Given the description of an element on the screen output the (x, y) to click on. 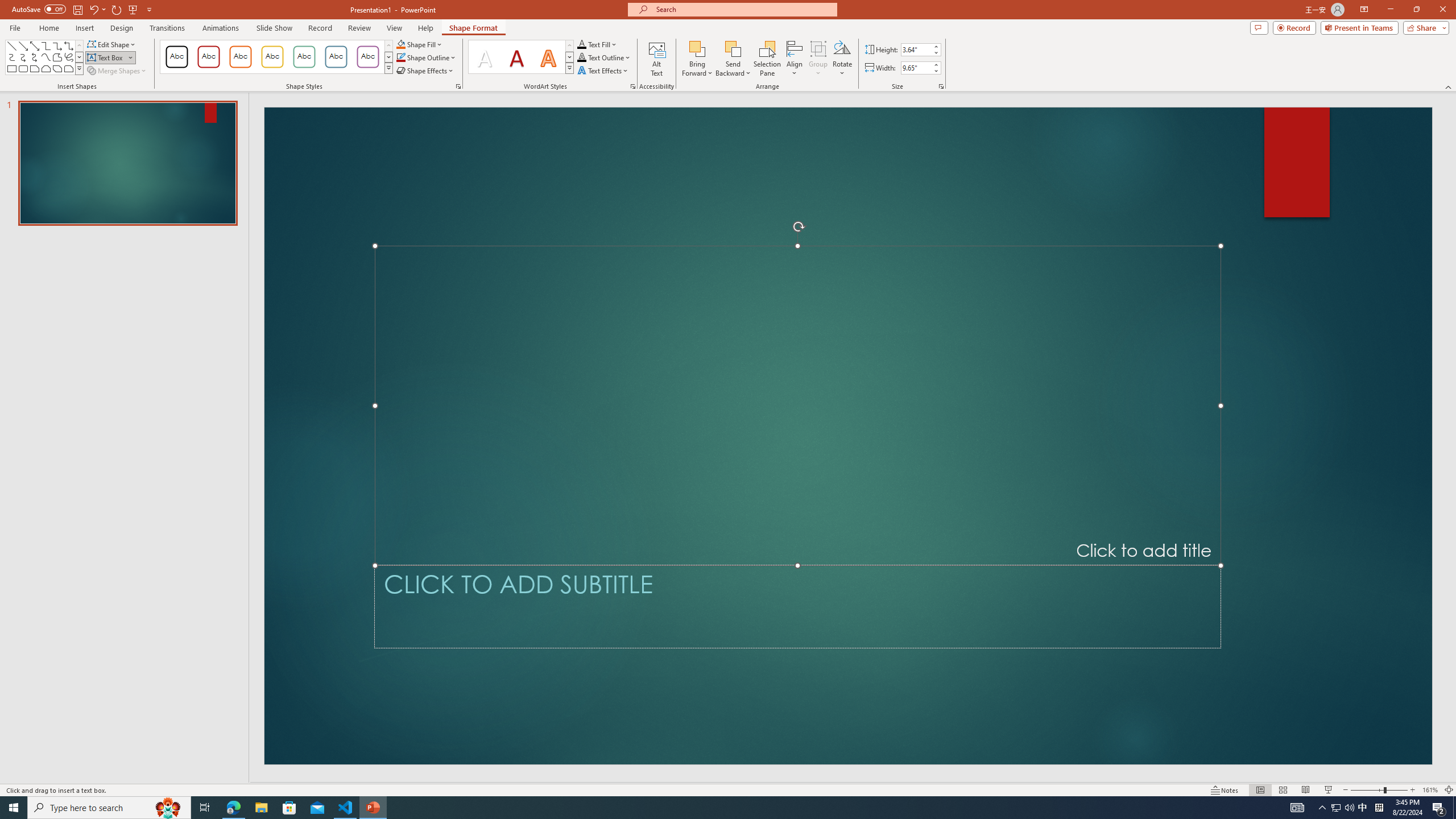
Edit Shape (112, 44)
Shape Height (915, 49)
Colored Outline - Black, Dark 1 (176, 56)
